Given the description of an element on the screen output the (x, y) to click on. 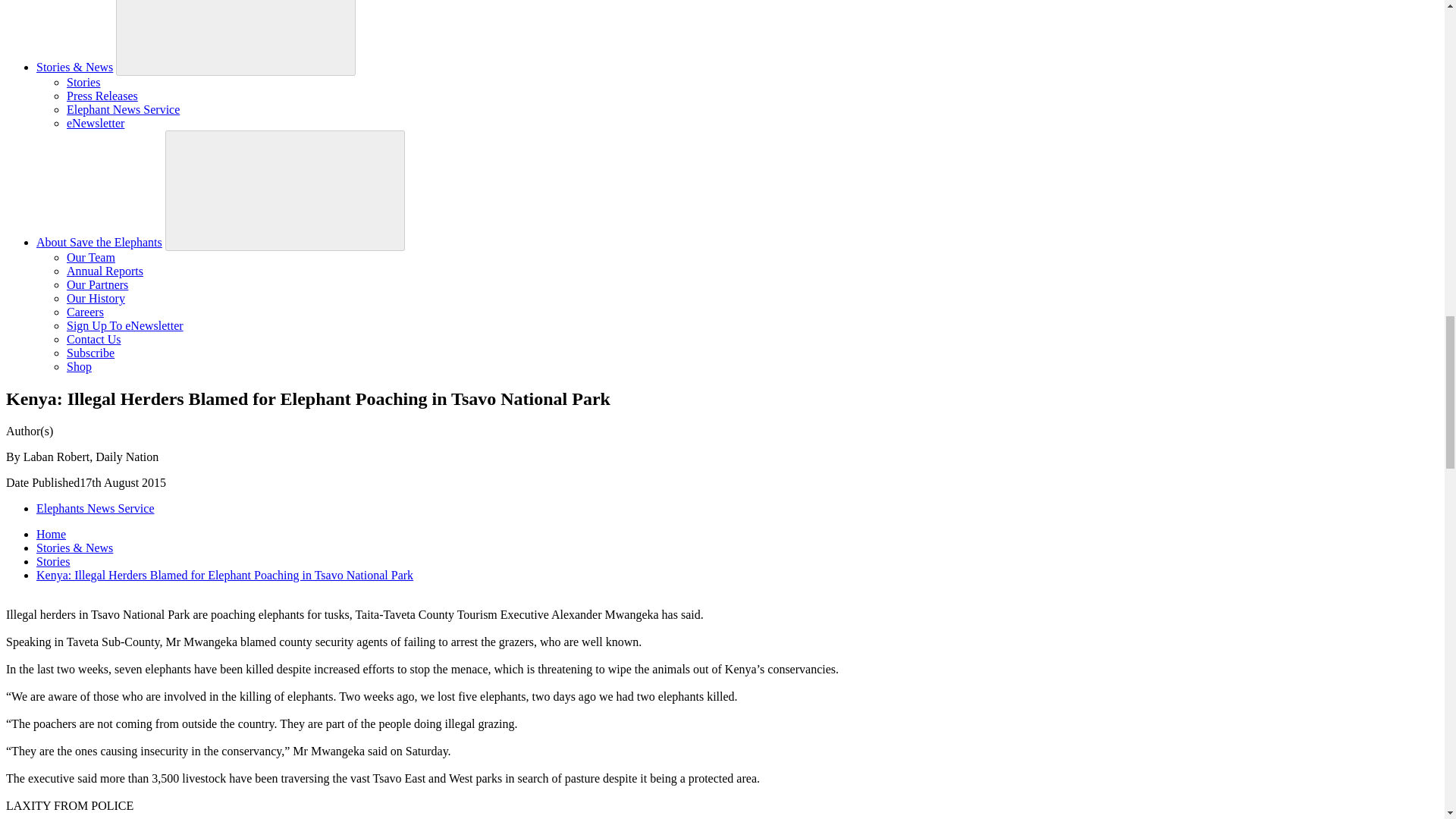
Expand dropdown (284, 189)
Expand dropdown (235, 35)
